Given the description of an element on the screen output the (x, y) to click on. 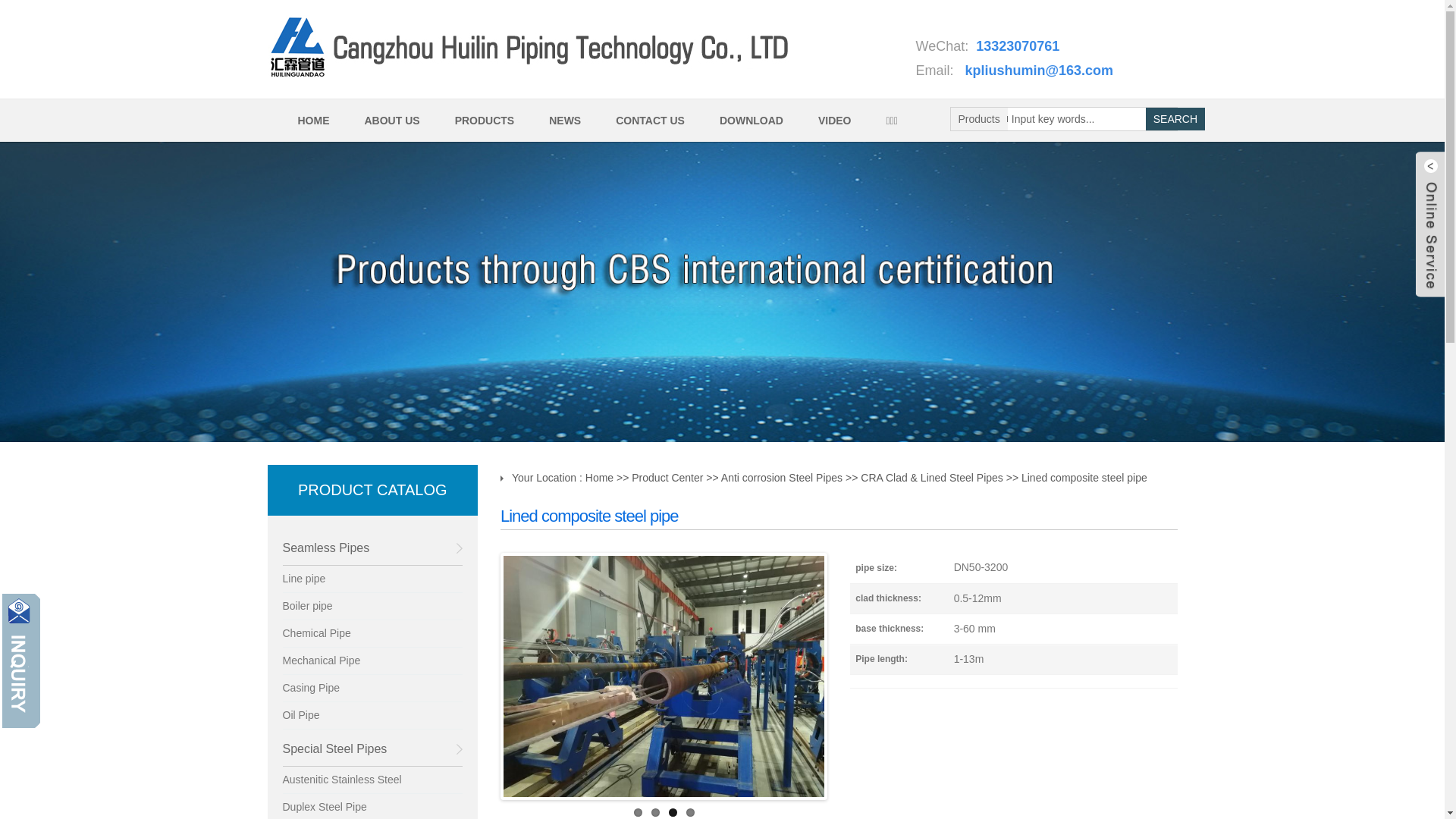
CONTACT US Element type: text (647, 120)
1 Element type: text (637, 812)
Product Center Element type: text (666, 477)
Lined composite steel pipe Element type: text (1084, 477)
2 Element type: text (655, 812)
Casing Pipe Element type: text (372, 688)
4 Element type: text (690, 812)
Anti corrosion Steel Pipes Element type: text (781, 477)
Austenitic Stainless Steel Element type: text (372, 779)
3 Element type: text (672, 812)
SEARCH Element type: text (1174, 118)
PRODUCTS Element type: text (483, 120)
Oil Pipe Element type: text (372, 715)
HOME Element type: text (312, 120)
Mechanical Pipe Element type: text (372, 660)
Home Element type: text (599, 477)
Chemical Pipe Element type: text (372, 633)
ABOUT US Element type: text (390, 120)
Line pipe Element type: text (372, 579)
DOWNLOAD Element type: text (749, 120)
Special Steel Pipes Element type: text (372, 748)
Boiler pipe Element type: text (372, 606)
CRA Clad & Lined Steel Pipes Element type: text (931, 477)
VIDEO Element type: text (832, 120)
NEWS Element type: text (563, 120)
Seamless Pipes Element type: text (372, 547)
kpliushumin@163.com Element type: text (1039, 70)
